Given the description of an element on the screen output the (x, y) to click on. 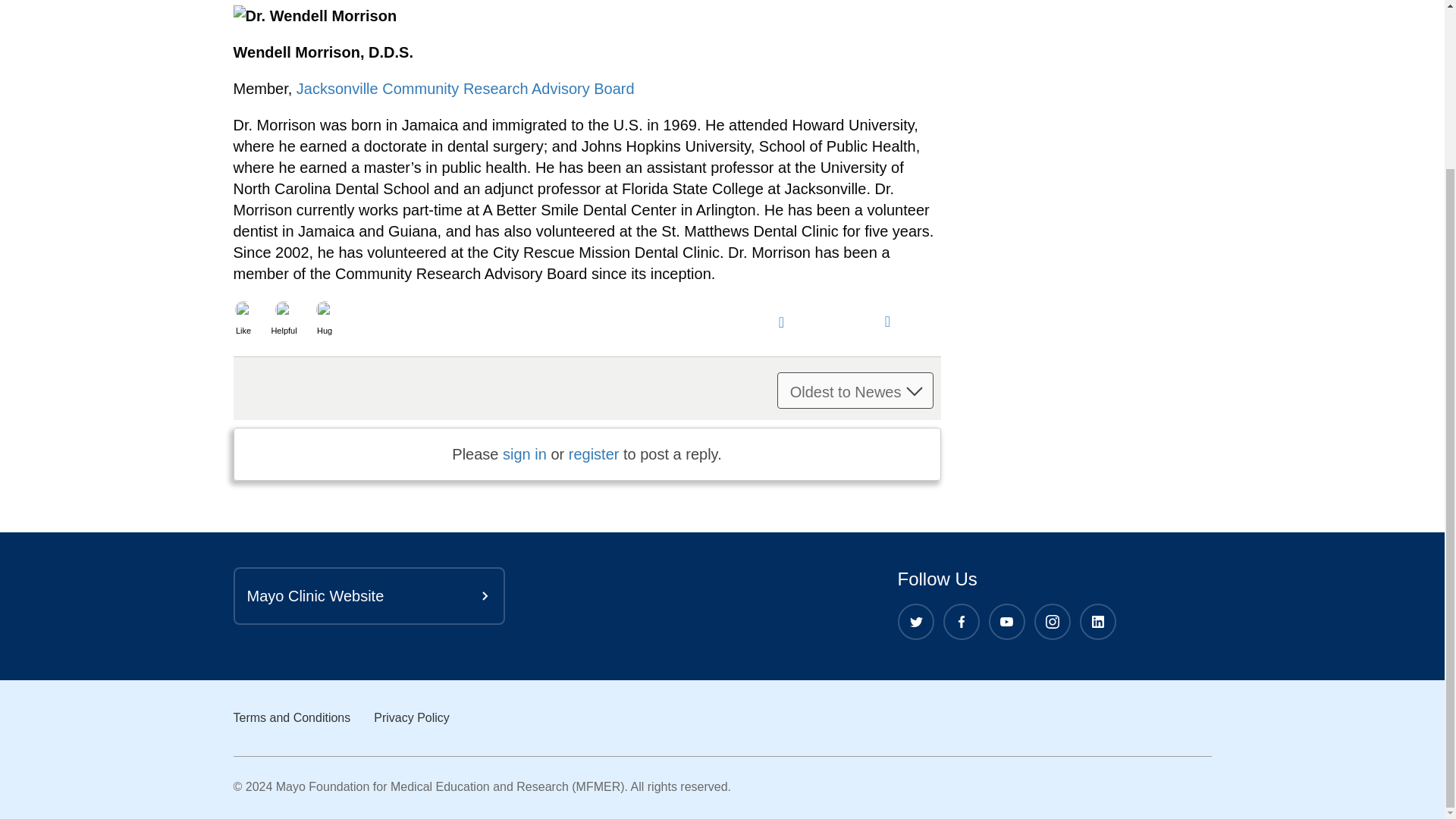
Manage notification settings for this article (781, 320)
Jacksonville Community Research Advisory Board (465, 88)
Privacy Policy (411, 717)
Terms and Conditions (291, 717)
register (594, 453)
sign in (524, 453)
Dr. Wendell Morrison (314, 15)
Mayo Clinic Website (368, 595)
Actions for this Article (887, 320)
